Given the description of an element on the screen output the (x, y) to click on. 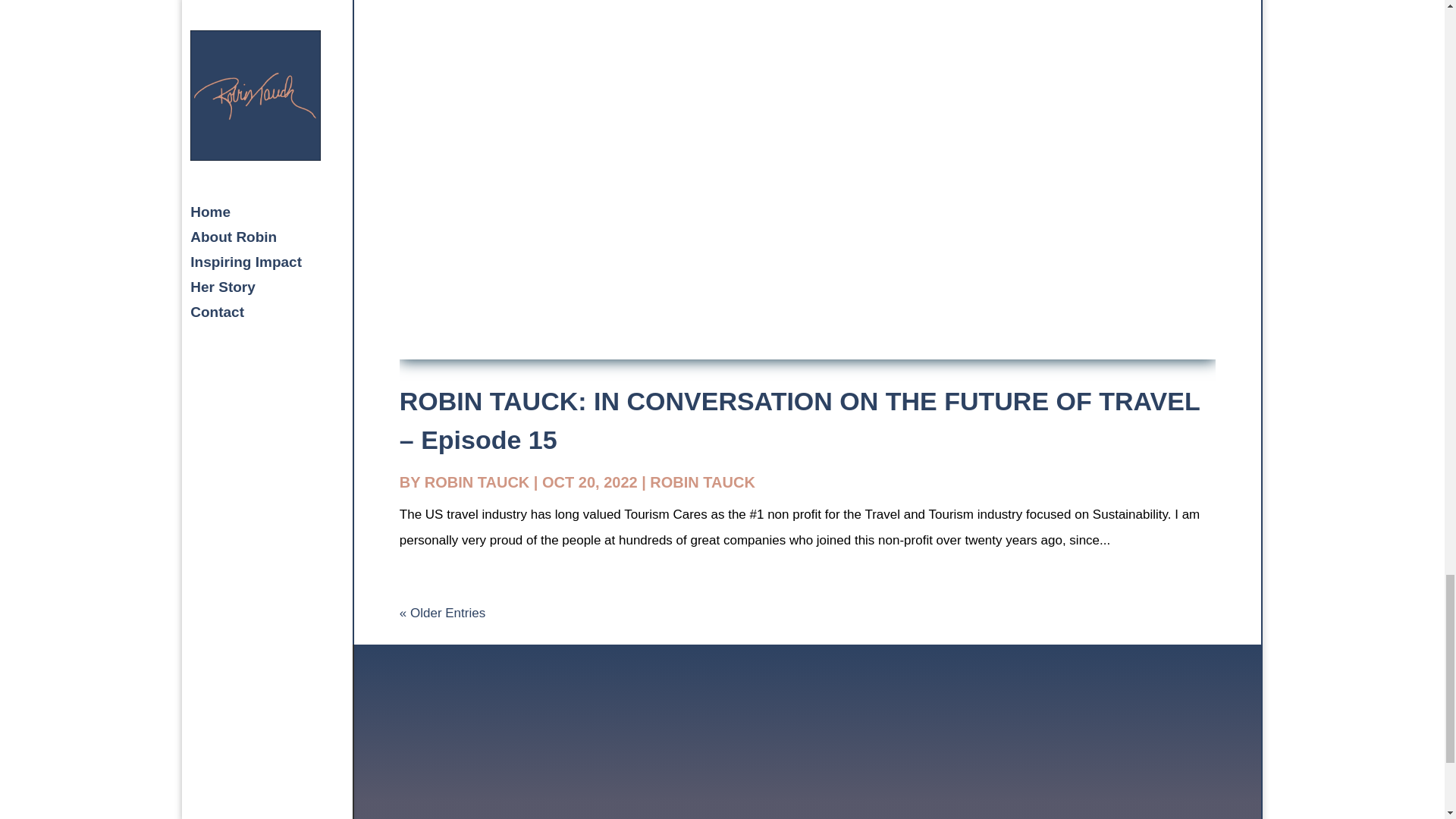
ROBIN TAUCK (477, 482)
Posts by Robin Tauck (477, 482)
ROBIN TAUCK (702, 482)
